Given the description of an element on the screen output the (x, y) to click on. 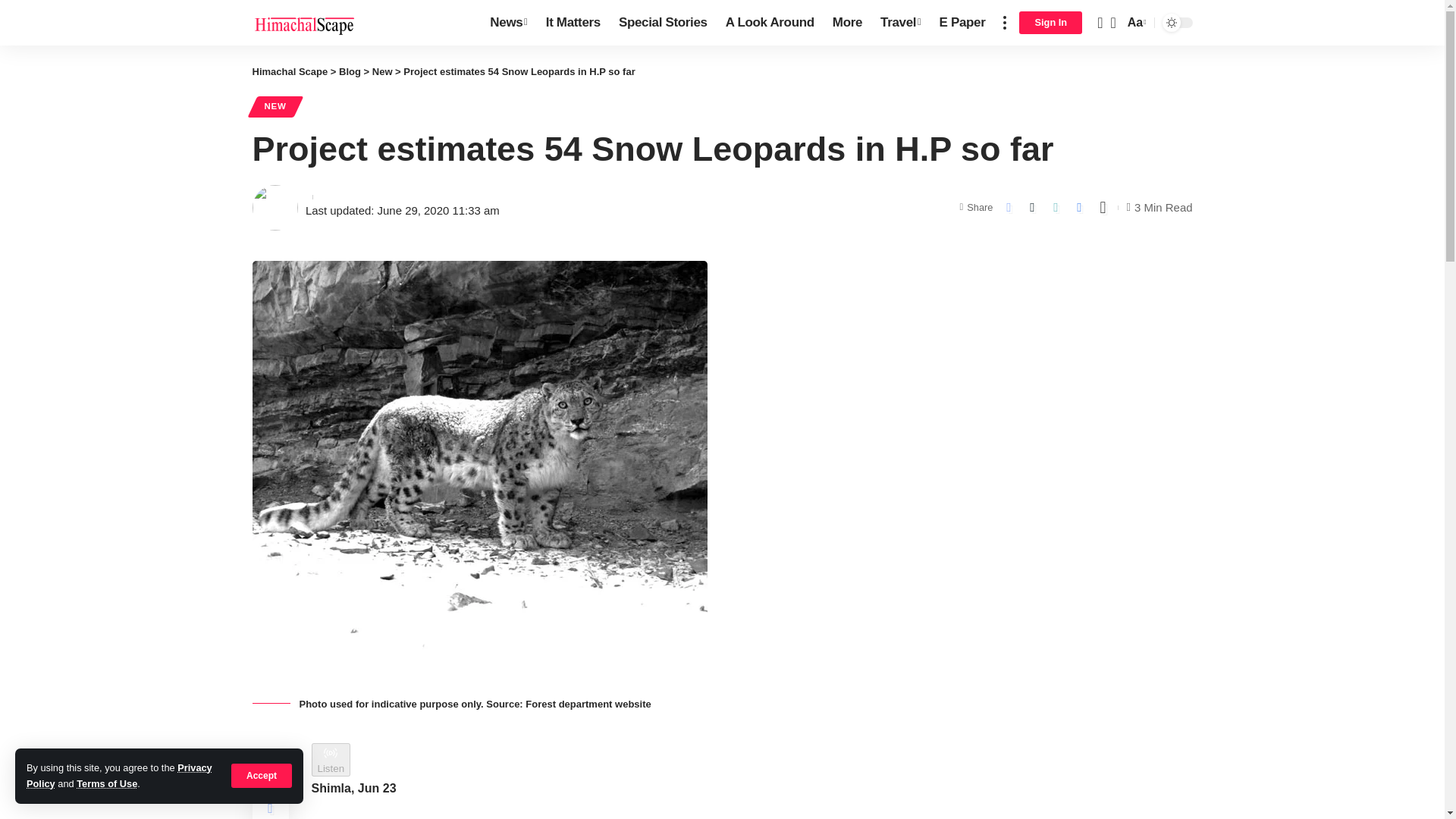
Travel (900, 22)
Accept (261, 775)
Go to Blog. (350, 71)
A Look Around (770, 22)
Terms of Use (106, 783)
Special Stories (663, 22)
Go to the New Category archives. (382, 71)
E Paper (962, 22)
It Matters (573, 22)
